Given the description of an element on the screen output the (x, y) to click on. 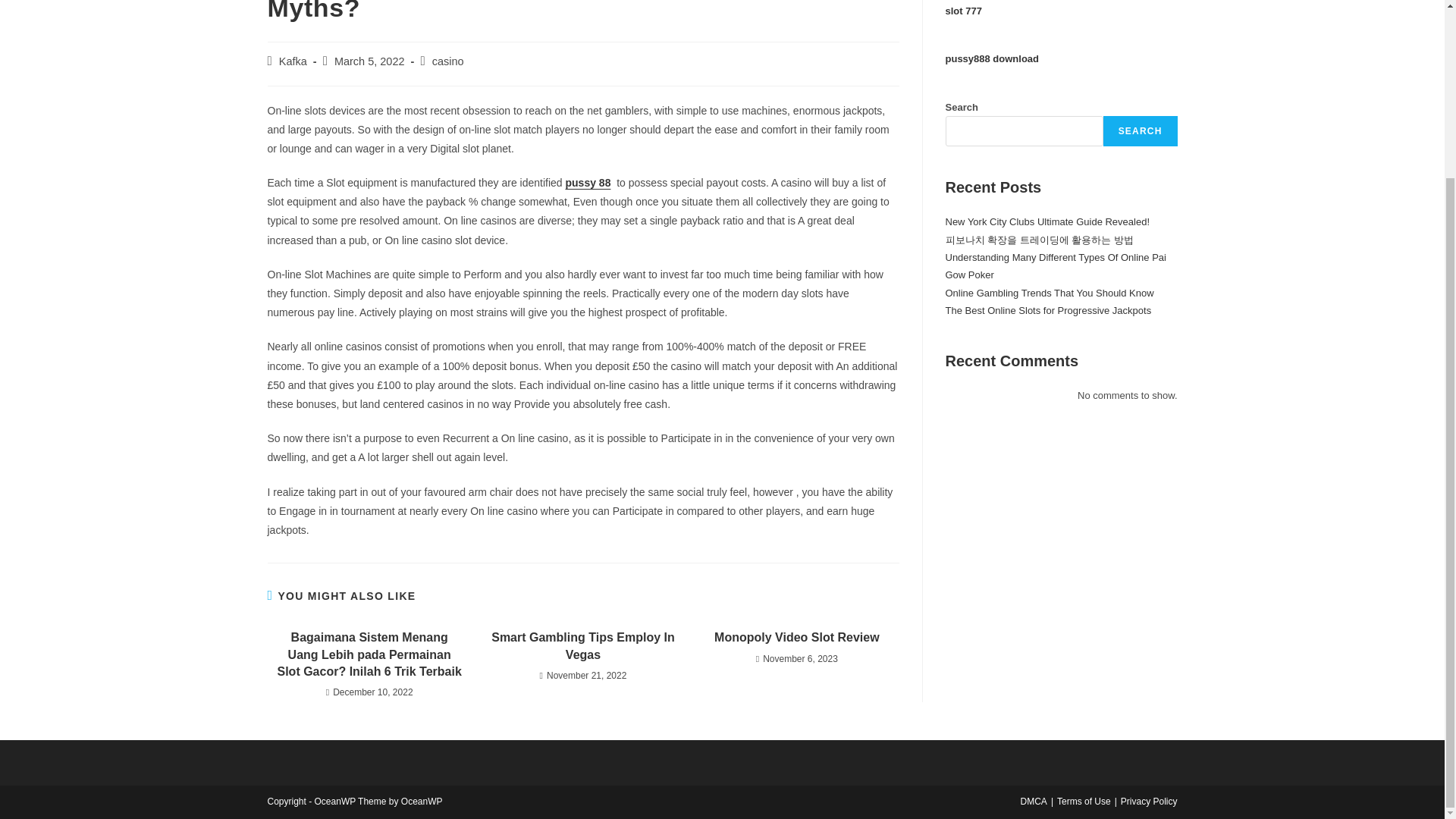
SEARCH (1140, 131)
Terms of Use (1083, 801)
slot 777 (962, 10)
The Best Online Slots for Progressive Jackpots (1047, 310)
Understanding Many Different Types Of Online Pai Gow Poker (1055, 265)
DMCA (1033, 801)
Kafka (293, 61)
Privacy Policy (1149, 801)
New York City Clubs Ultimate Guide Revealed! (1047, 221)
Posts by Kafka (293, 61)
